Given the description of an element on the screen output the (x, y) to click on. 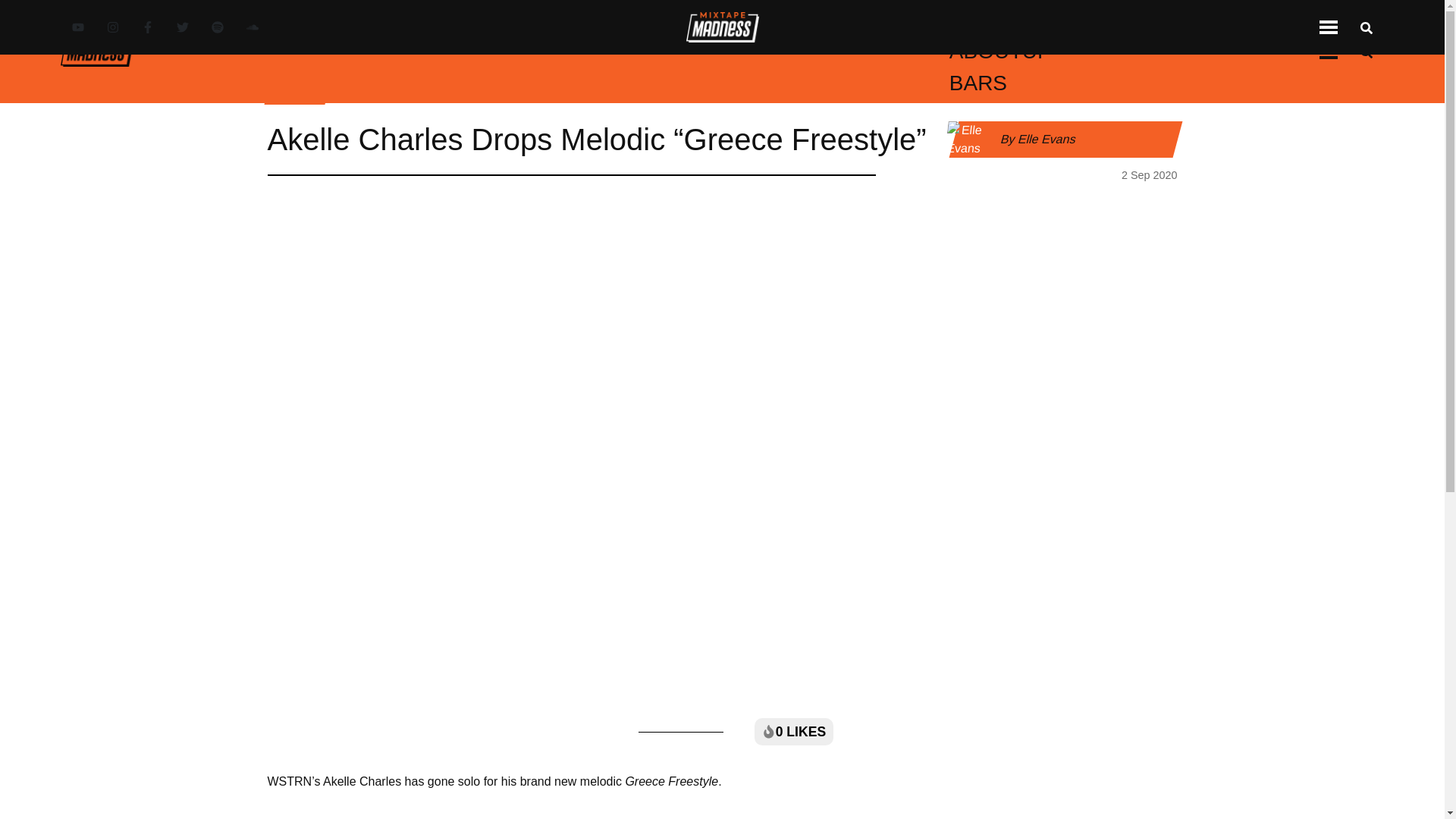
VIDEOS (545, 20)
REVIEWS (900, 20)
INTERVIEWS (785, 20)
MUSIC (408, 20)
SHOWS (1118, 20)
NEWS (473, 20)
EXCLUSIVES (652, 20)
0 LIKES (793, 731)
